Given the description of an element on the screen output the (x, y) to click on. 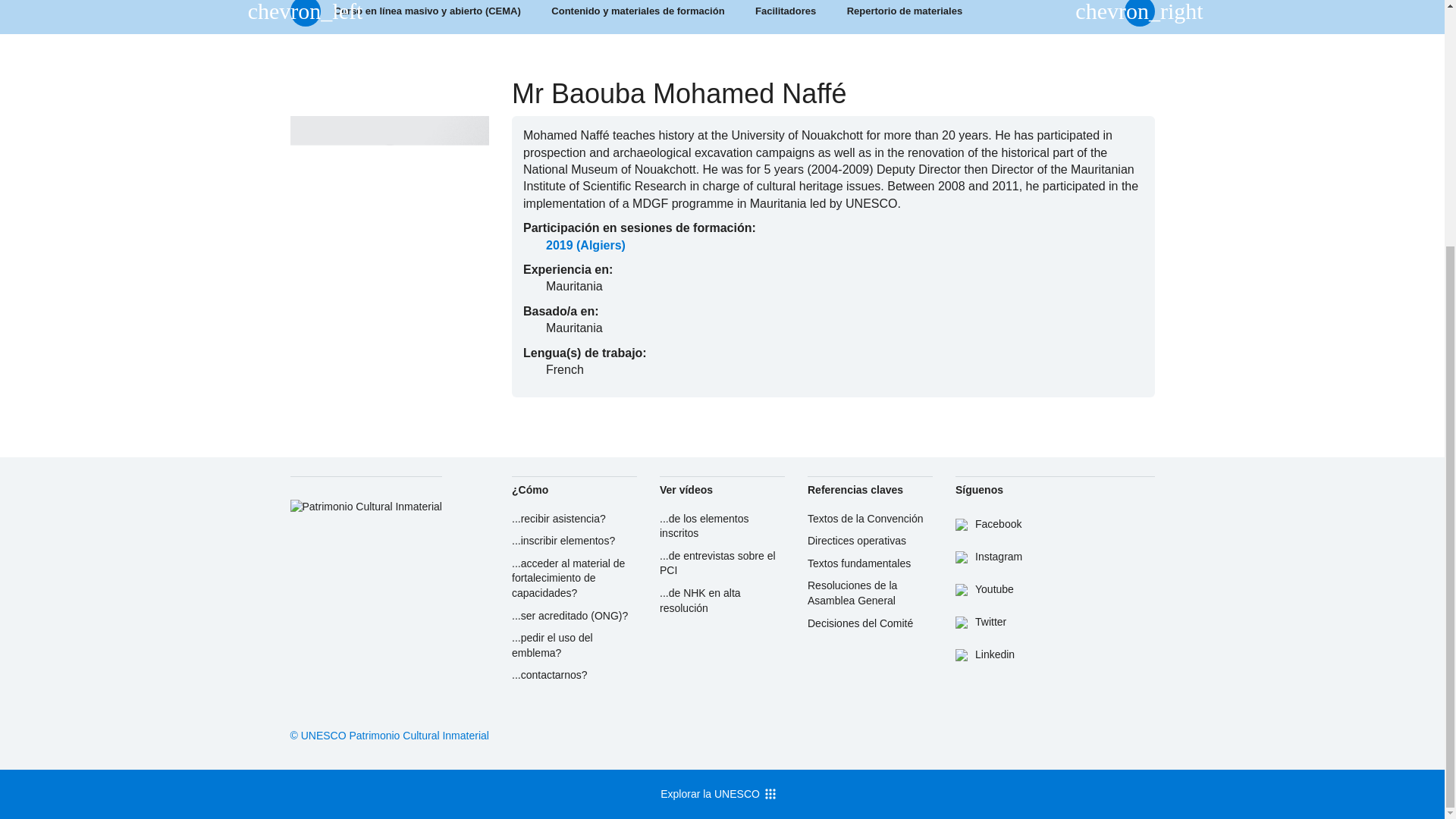
Red mundial de facilitadores (785, 17)
